Given the description of an element on the screen output the (x, y) to click on. 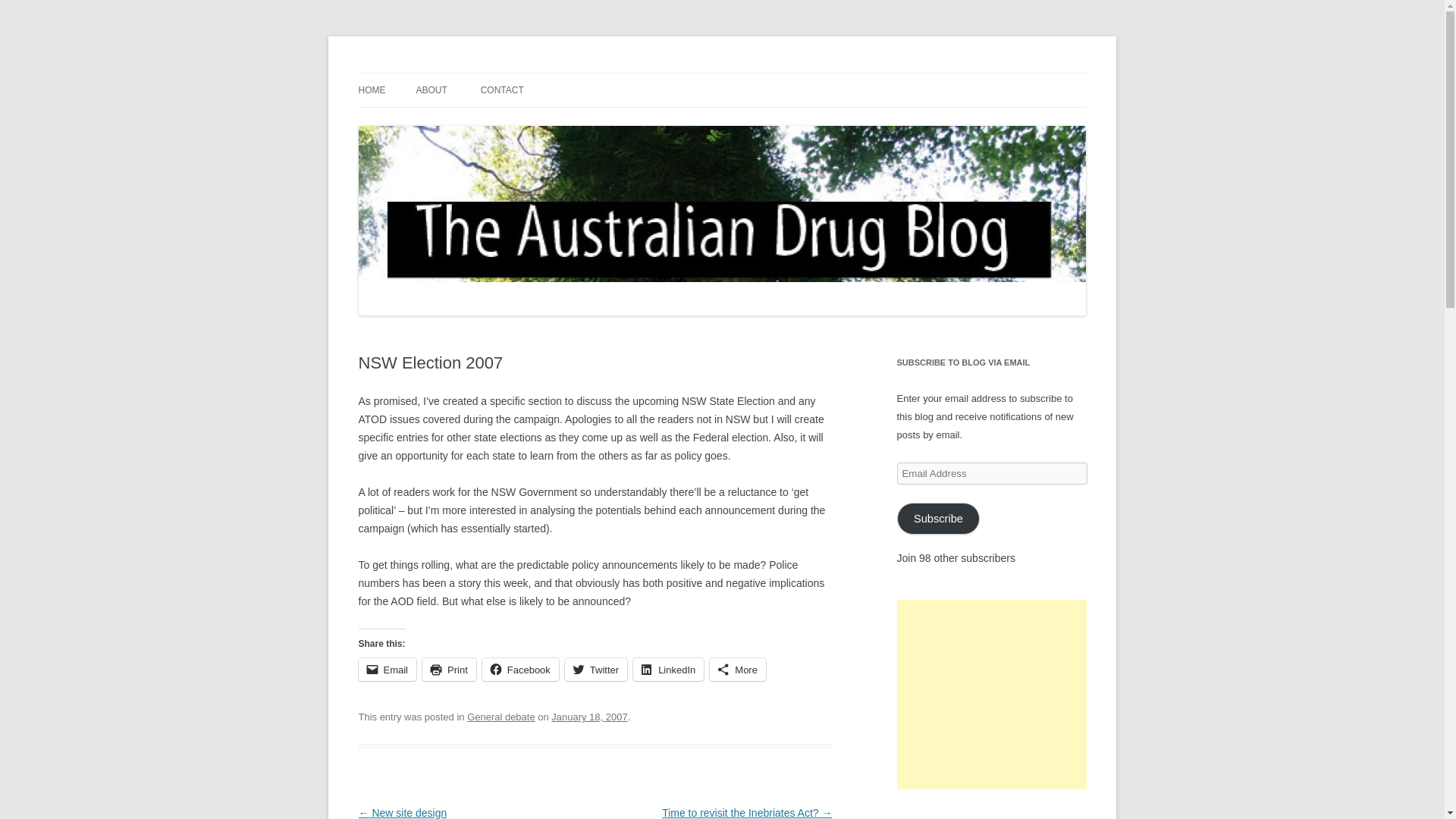
Click to share on Facebook (520, 669)
7:43 pm (589, 716)
Twitter (595, 669)
Subscribe (937, 518)
Click to print (449, 669)
CONTACT (502, 90)
More (737, 669)
January 18, 2007 (589, 716)
LinkedIn (668, 669)
Advertisement (991, 694)
Click to share on LinkedIn (668, 669)
Click to share on Twitter (595, 669)
Australian Drug Blog (456, 72)
Facebook (520, 669)
